Given the description of an element on the screen output the (x, y) to click on. 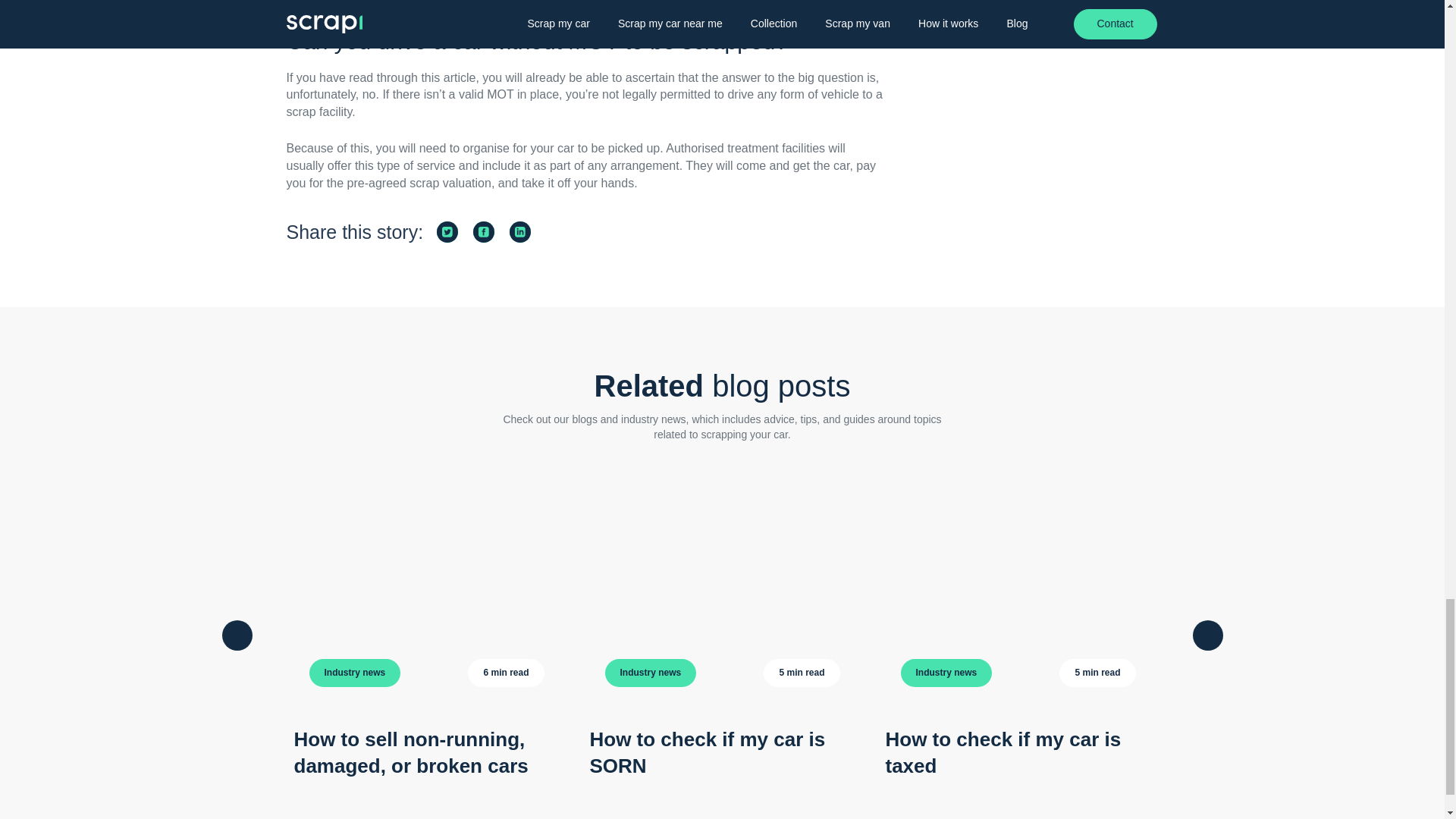
Industry news (651, 673)
Industry news (946, 673)
Previous (236, 634)
Industry news (354, 673)
How to check if my car is taxed (1003, 752)
How to sell non-running, damaged, or broken cars (411, 752)
How to check if my car is SORN (707, 752)
